Given the description of an element on the screen output the (x, y) to click on. 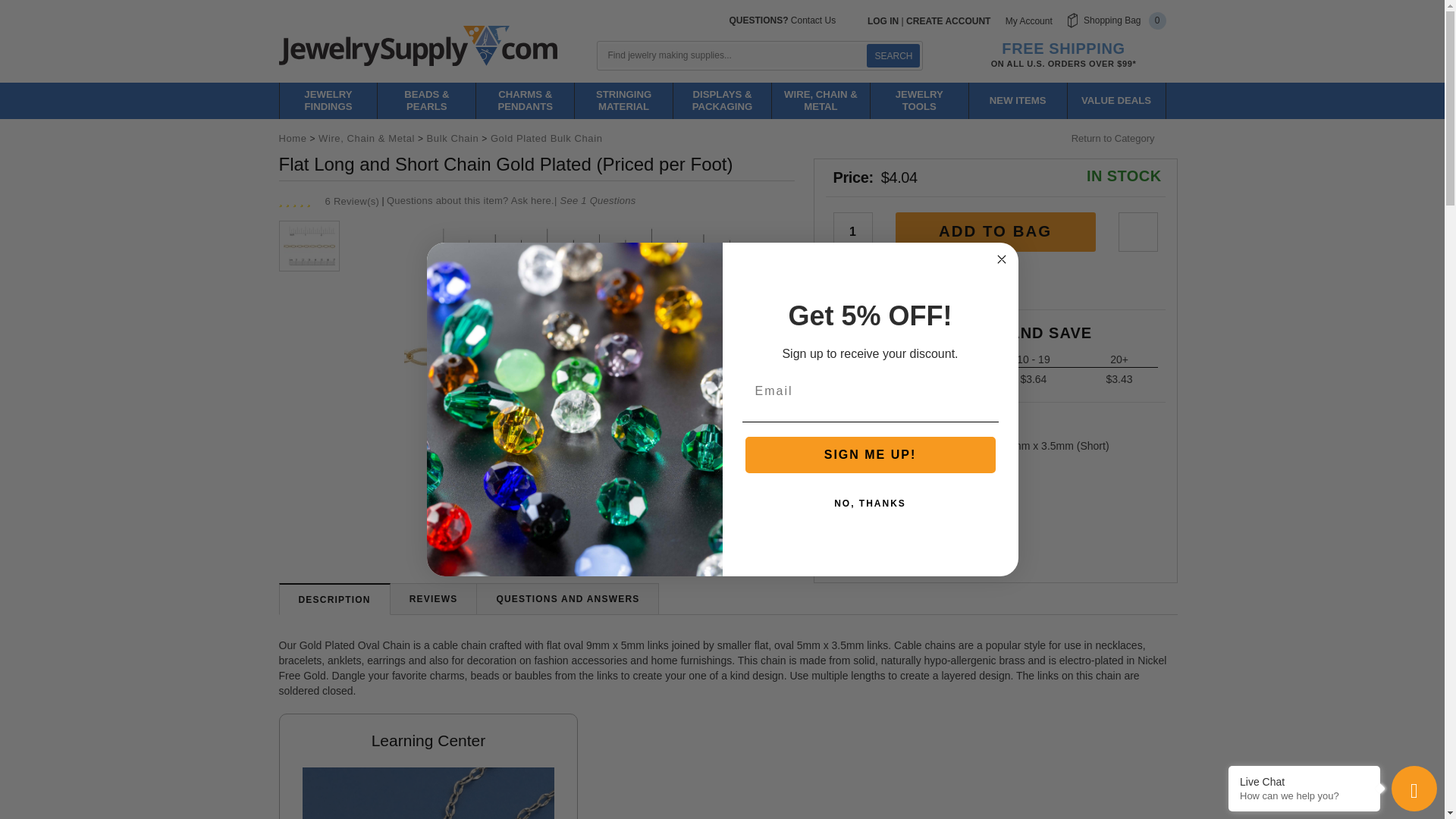
STRINGING MATERIAL (623, 100)
JEWELRY FINDINGS (328, 100)
Home (293, 138)
1 (852, 231)
home (418, 45)
NEW ITEMS (1018, 100)
LOG IN (882, 20)
CREATE ACCOUNT (947, 20)
SEARCH (893, 55)
JewelrySupply.com (418, 45)
Add to Favorites (1137, 231)
QUESTIONS? Contact Us (782, 20)
Bulk Chain (452, 138)
VALUE DEALS (1116, 100)
Shopping Bag0 (1116, 20)
